Given the description of an element on the screen output the (x, y) to click on. 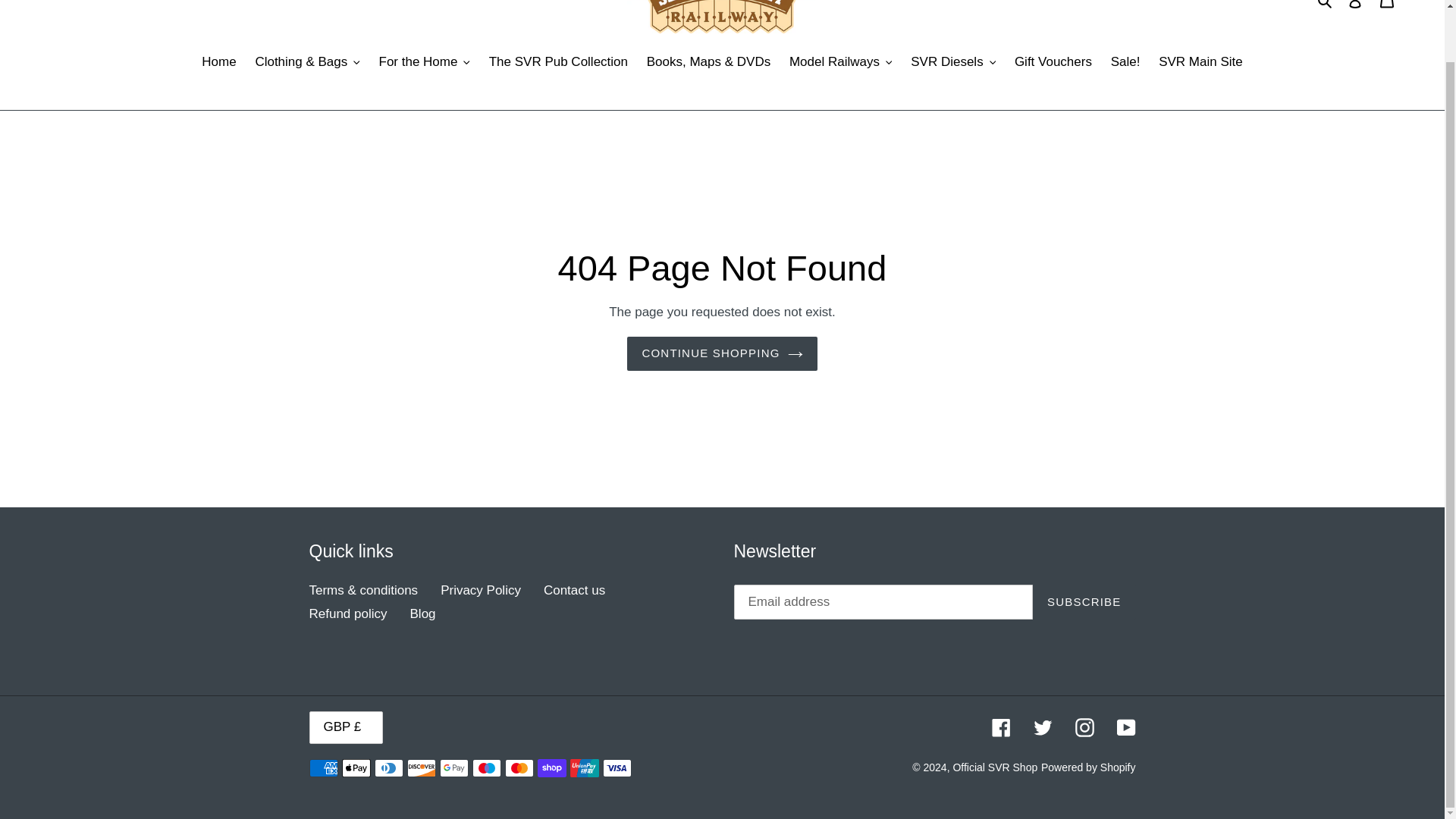
Log in (1355, 8)
Search (1326, 5)
Cart (1387, 8)
